Given the description of an element on the screen output the (x, y) to click on. 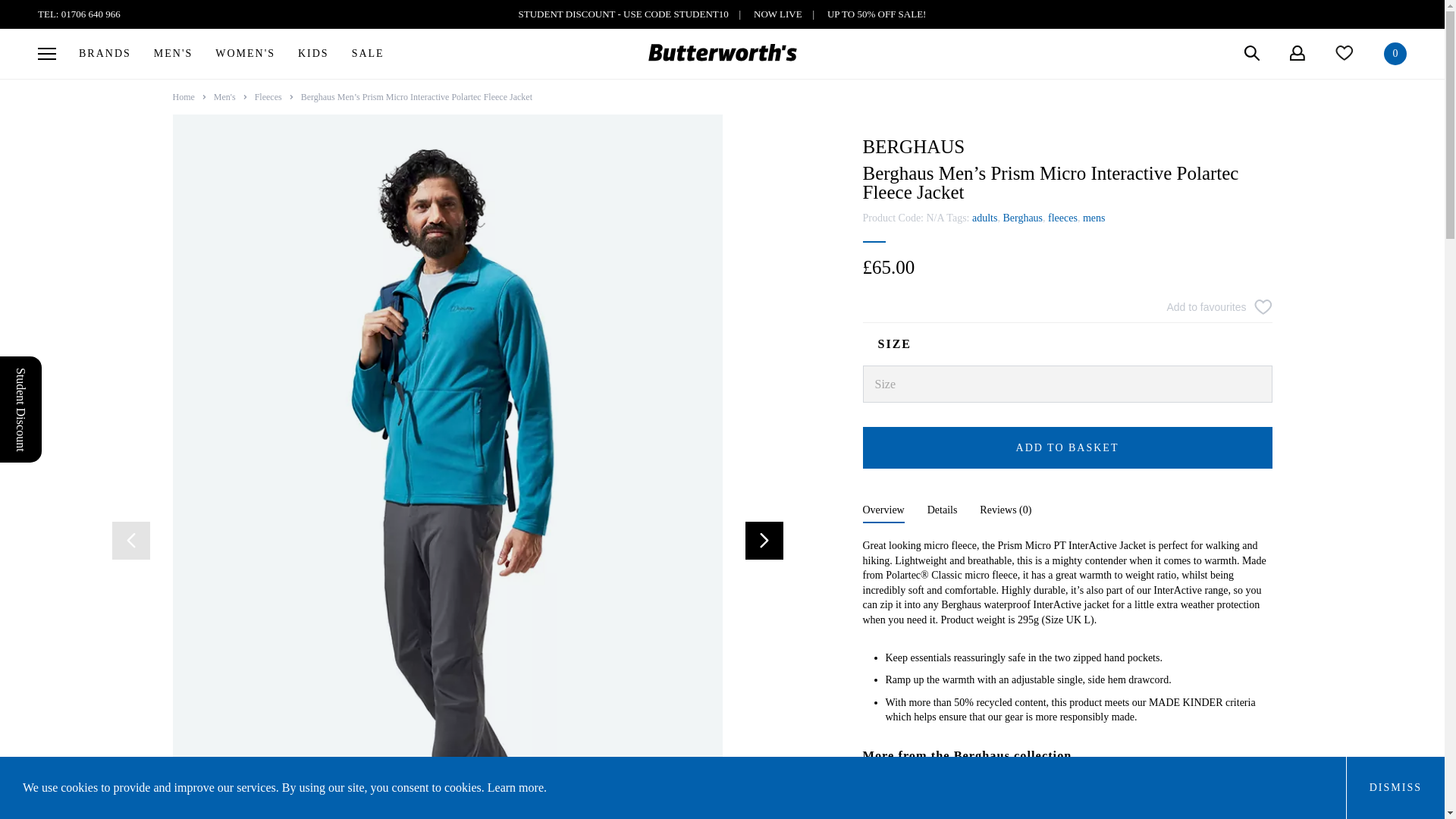
SALE (368, 53)
MEN'S (172, 53)
KIDS (313, 53)
WOMEN'S (244, 53)
0 (1395, 53)
BRANDS (104, 53)
